Given the description of an element on the screen output the (x, y) to click on. 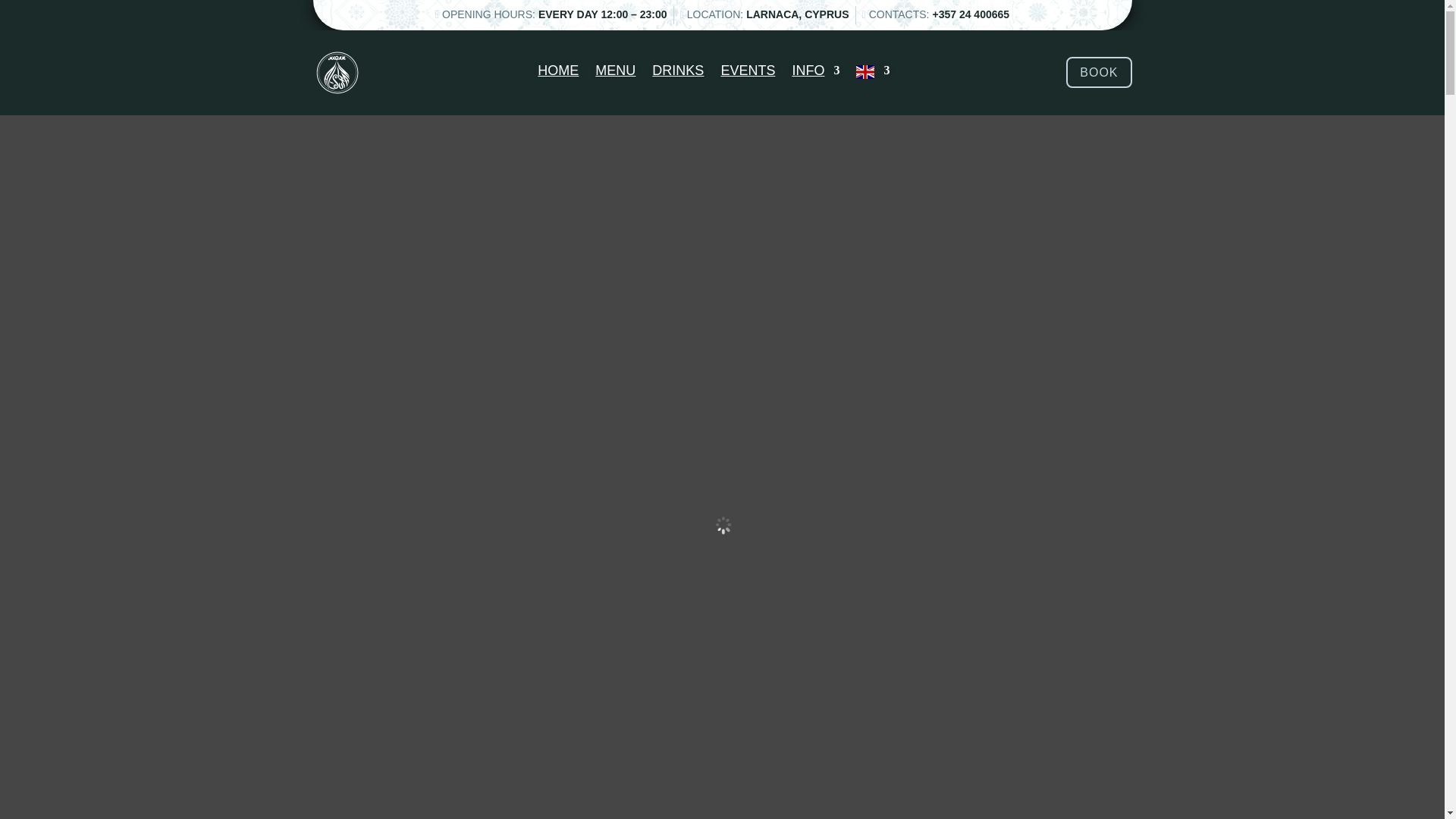
INFO (816, 75)
English (872, 75)
DRINKS (677, 75)
cropped-loqo-maqam-sultan-bianco.png (337, 72)
HOME (557, 75)
MENU (614, 75)
EVENTS (747, 75)
